Given the description of an element on the screen output the (x, y) to click on. 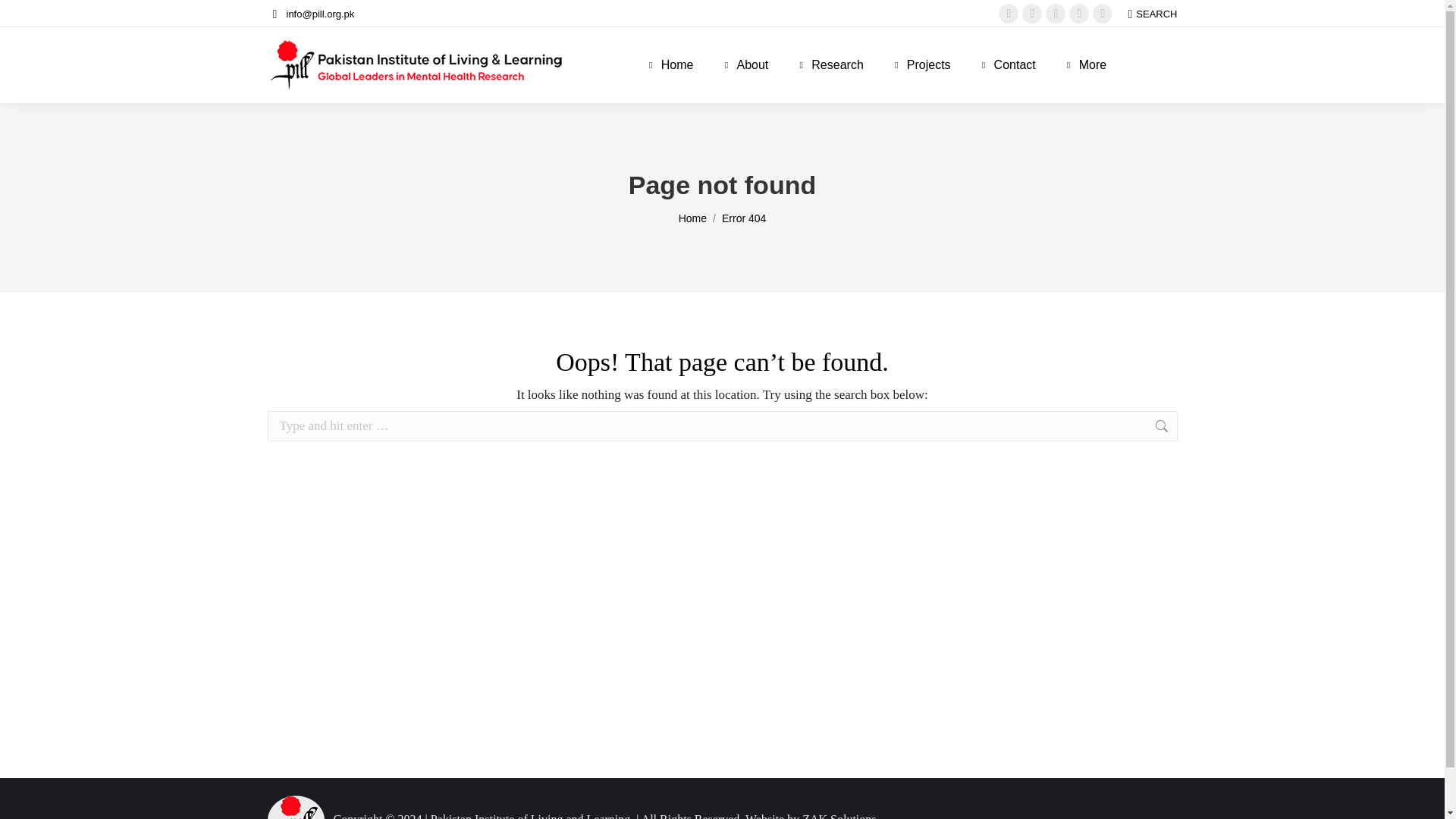
Linkedin page opens in new window (1055, 13)
Research (829, 64)
YouTube page opens in new window (1102, 13)
Twitter page opens in new window (1032, 13)
Twitter page opens in new window (1032, 13)
Facebook page opens in new window (1007, 13)
About (744, 64)
Instagram page opens in new window (1078, 13)
Linkedin page opens in new window (1055, 13)
YouTube page opens in new window (1102, 13)
